Given the description of an element on the screen output the (x, y) to click on. 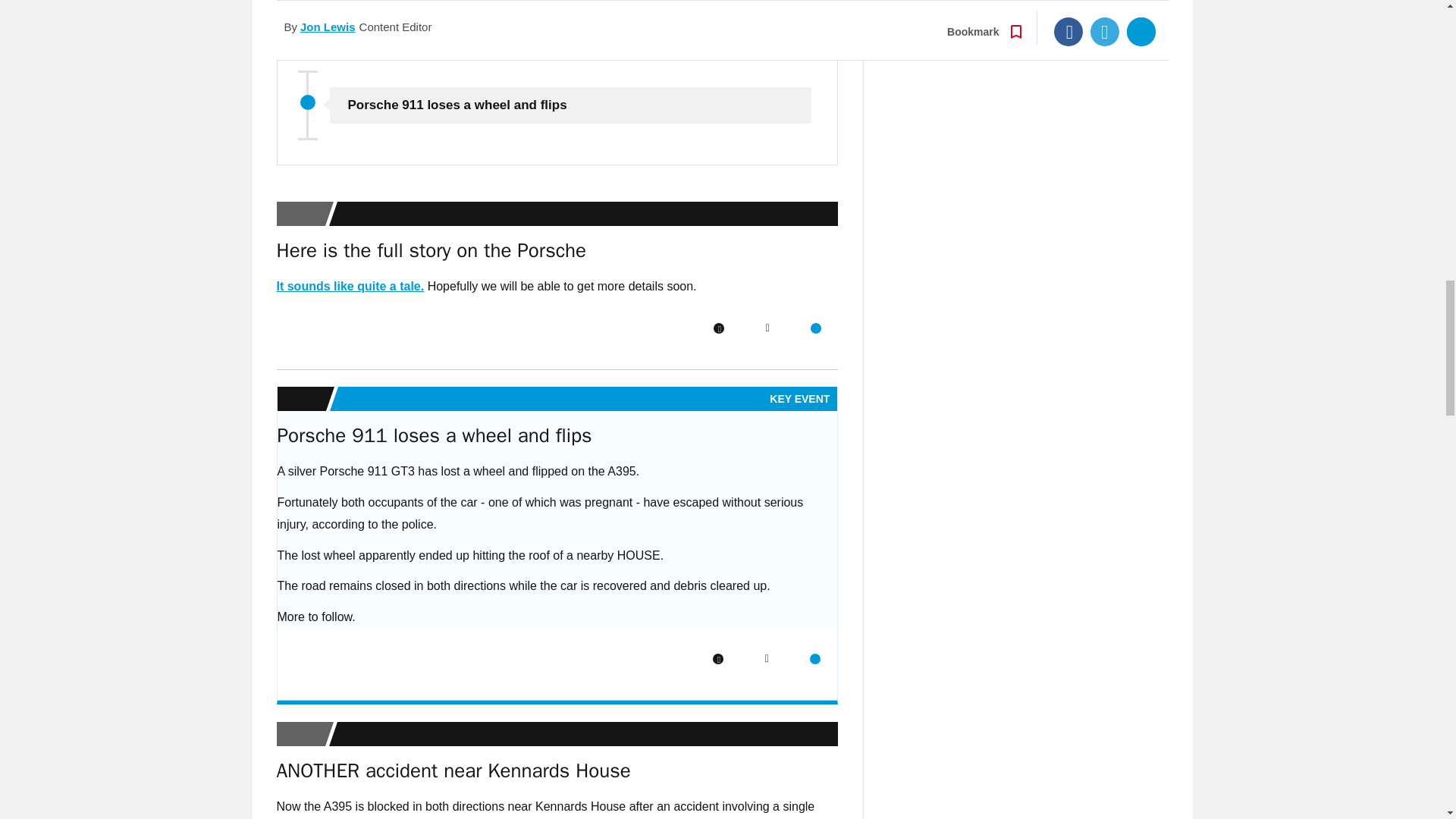
Twitter (767, 327)
Facebook (718, 327)
Facebook (718, 658)
Twitter (766, 658)
